Given the description of an element on the screen output the (x, y) to click on. 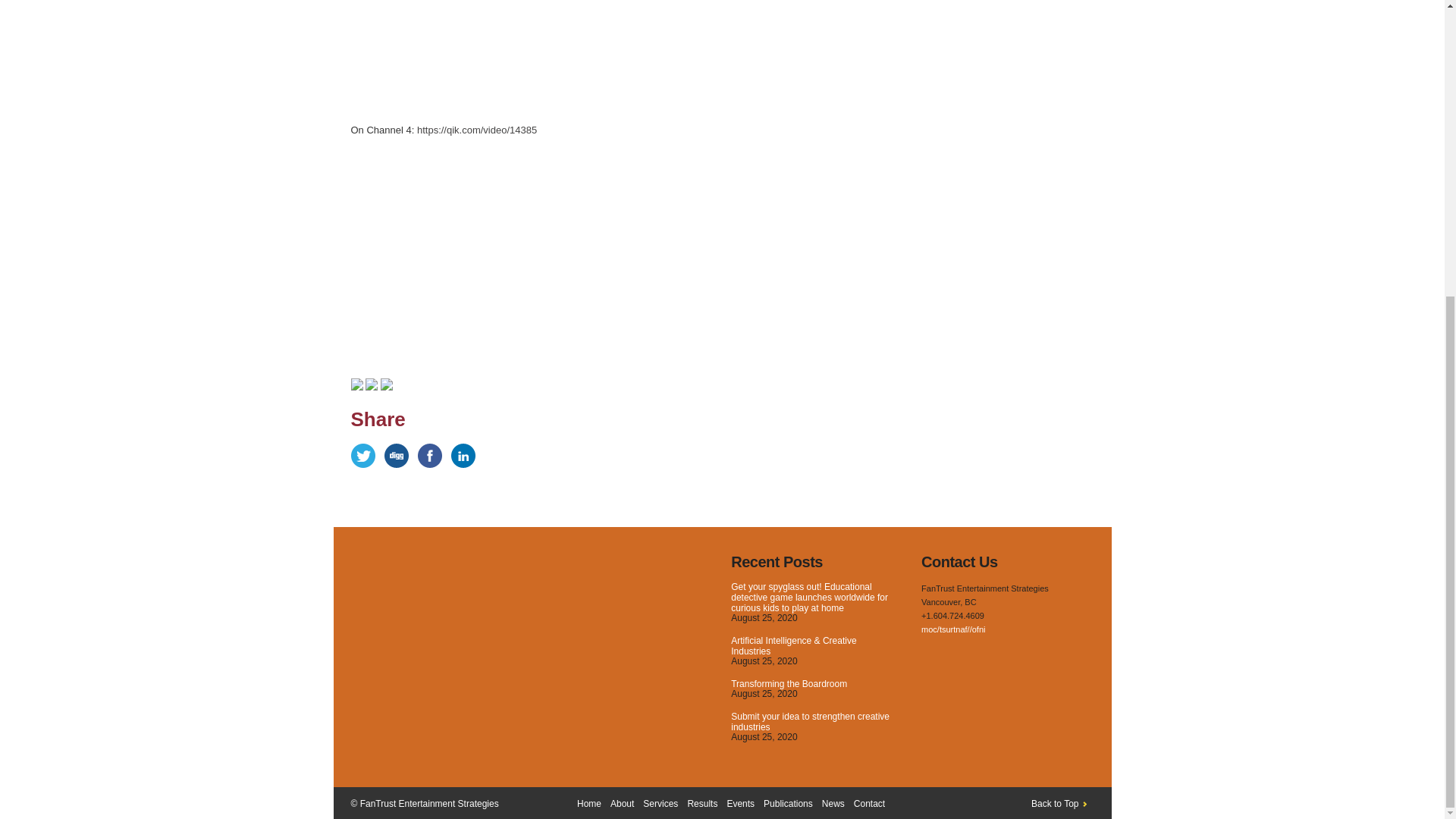
Transforming the Boardroom (788, 683)
August 25, 2020 (763, 617)
Tuesday, August 25th, 2020, 10:07 am (763, 737)
August 25, 2020 (763, 693)
Events (740, 803)
Transforming the Boardroom (788, 683)
Submit your idea to strengthen creative industries (809, 721)
Contact (869, 803)
August 25, 2020 (763, 661)
Tuesday, August 25th, 2020, 2:59 pm (763, 617)
Results (702, 803)
Tuesday, August 25th, 2020, 2:34 pm (763, 693)
Submit your idea to strengthen creative industries (809, 721)
Publications (787, 803)
